Given the description of an element on the screen output the (x, y) to click on. 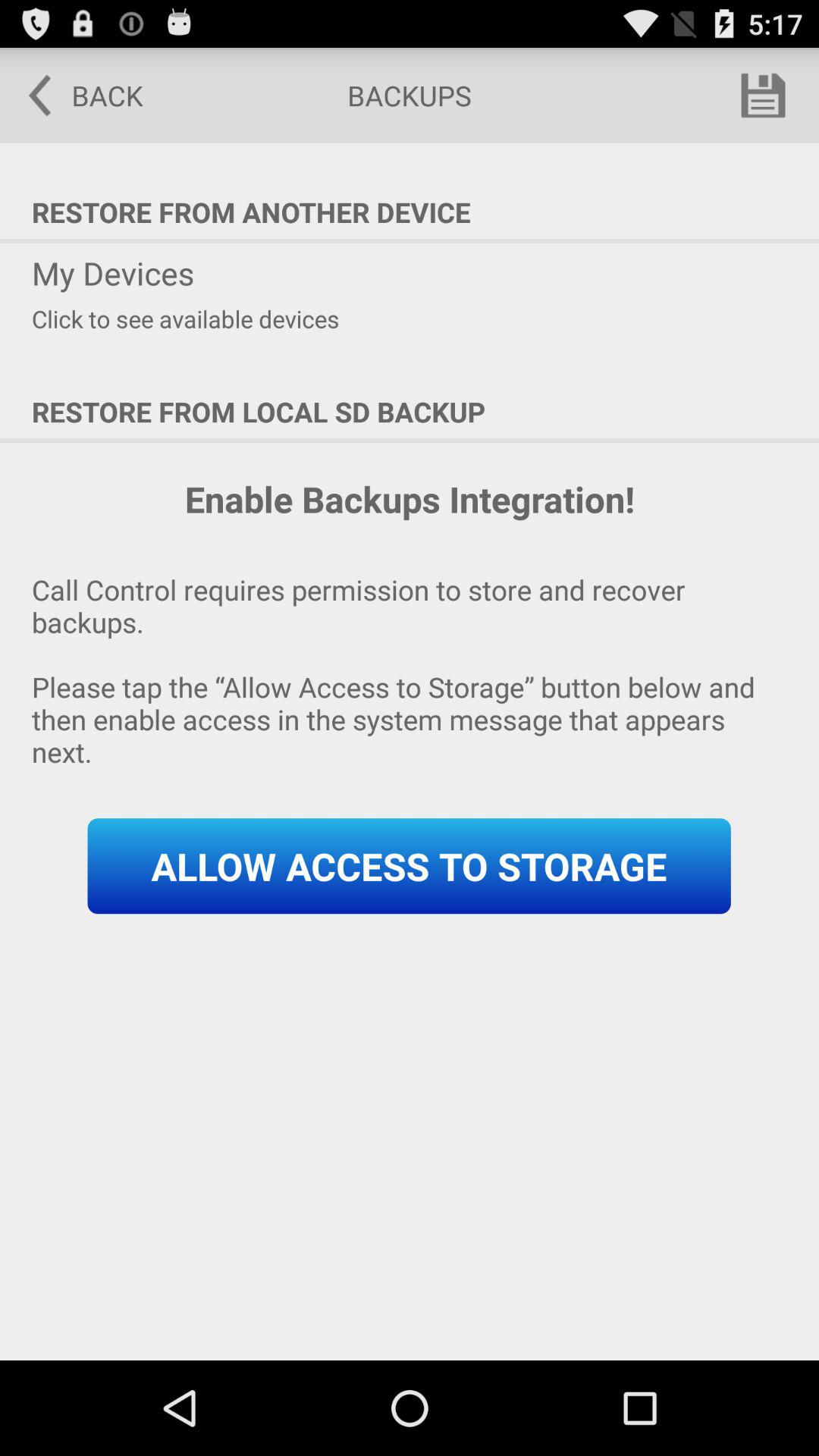
turn on icon at the top right corner (763, 95)
